Given the description of an element on the screen output the (x, y) to click on. 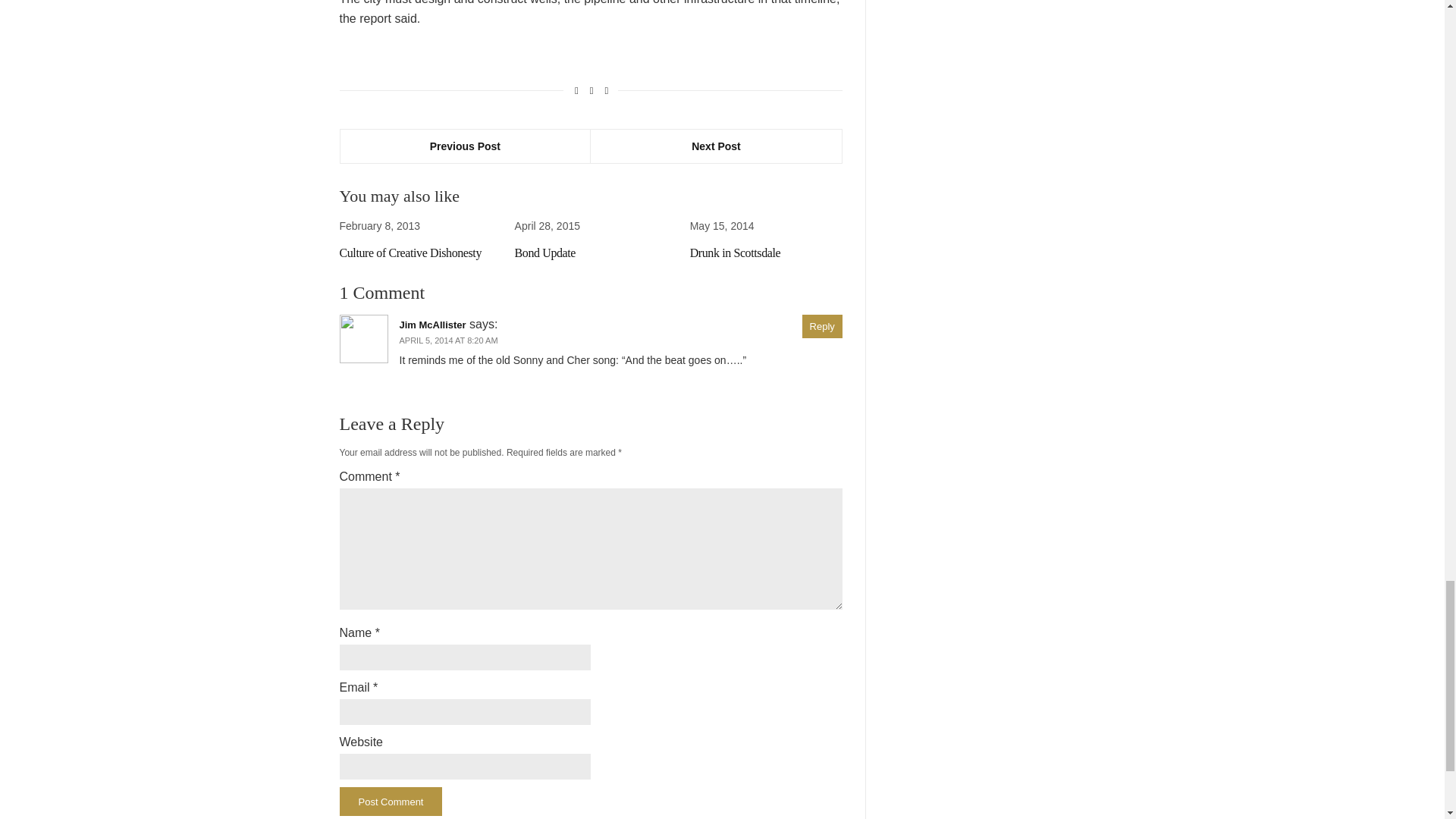
Jim McAllister (431, 337)
APRIL 5, 2014 AT 8:20 AM (447, 353)
Light Rail and Confirmation Bias (404, 259)
Cultural Irrelevance II (565, 252)
Post Comment (390, 809)
Jim Lane does a Travolta (747, 252)
Previous Post (465, 145)
Post Comment (390, 809)
Next Post (716, 145)
Reply (822, 340)
